Given the description of an element on the screen output the (x, y) to click on. 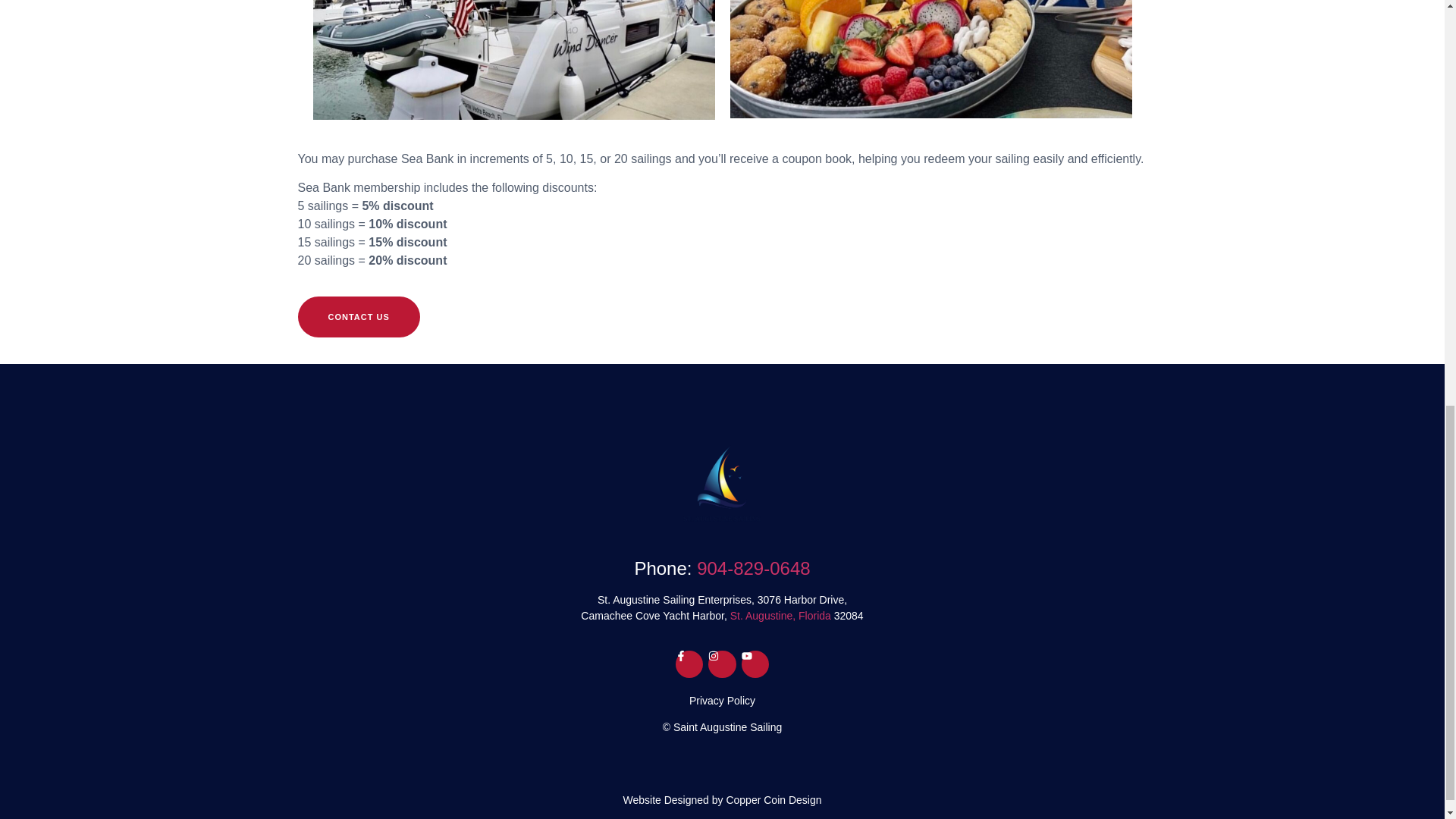
FareHarbor (1342, 64)
